Given the description of an element on the screen output the (x, y) to click on. 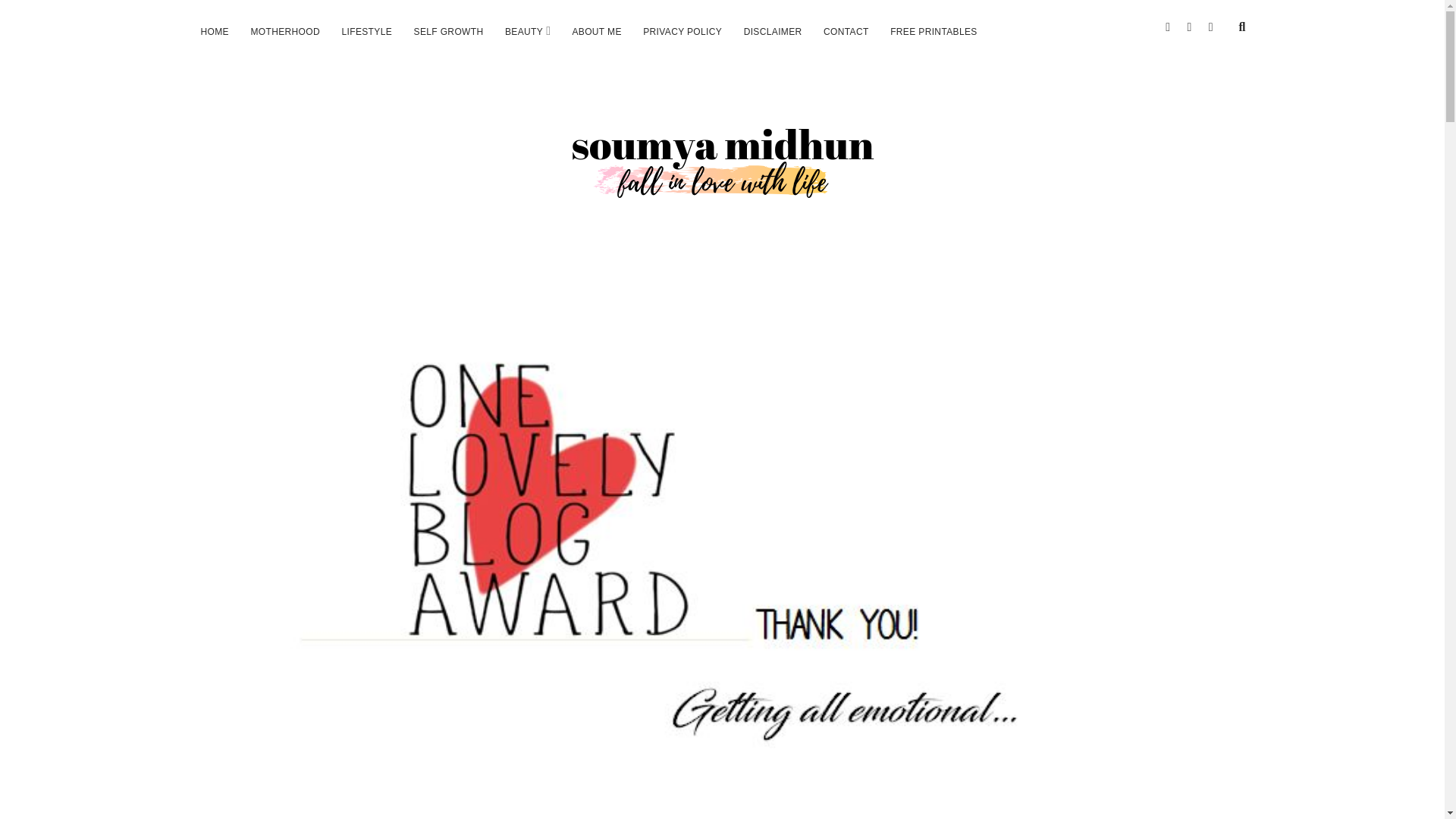
SELF GROWTH (448, 31)
BEAUTY (523, 31)
ABOUT ME (596, 31)
MOTHERHOOD (285, 31)
LIFESTYLE (366, 31)
DISCLAIMER (772, 31)
FREE PRINTABLES (933, 31)
CONTACT (845, 31)
PRIVACY POLICY (681, 31)
HOME (213, 31)
